Given the description of an element on the screen output the (x, y) to click on. 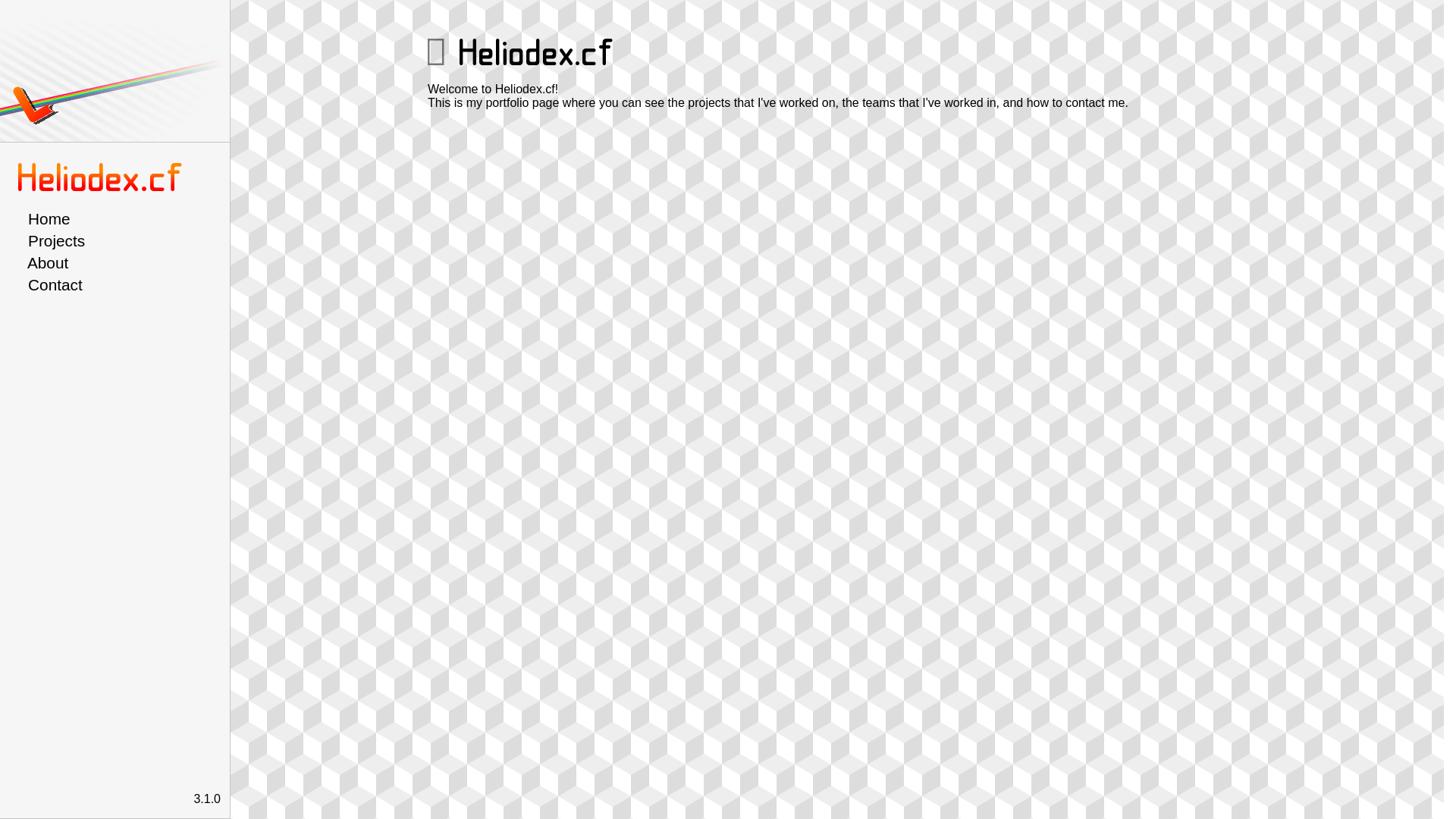
Heliodex.cf Element type: text (101, 178)
About Element type: text (117, 263)
Contact Element type: text (117, 285)
Projects Element type: text (117, 241)
Home Element type: text (117, 219)
